Given the description of an element on the screen output the (x, y) to click on. 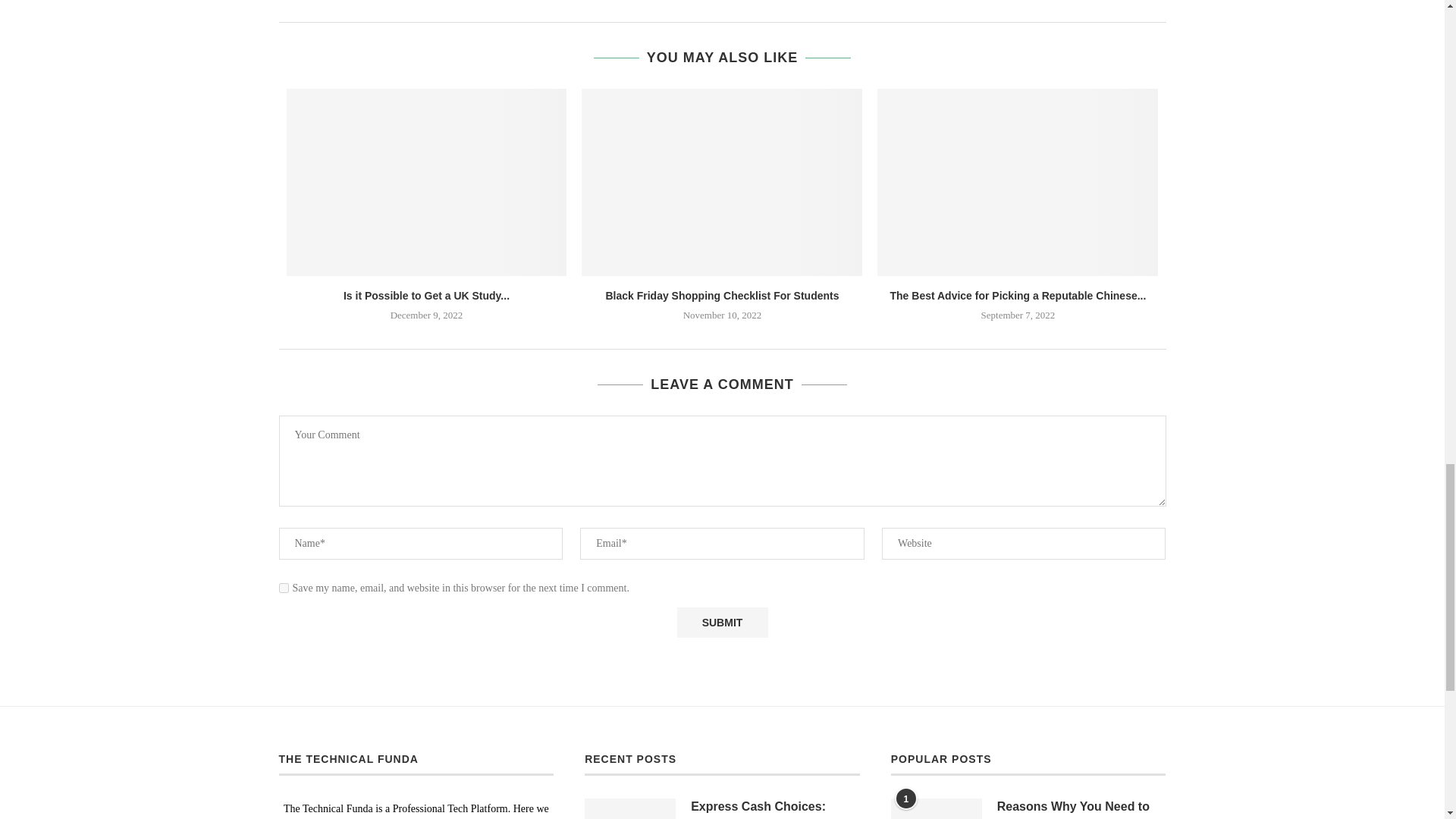
Submit (722, 622)
Is it Possible to Get a UK Study Visa Without IELTS? (426, 182)
Black Friday Shopping Checklist For Students (720, 182)
yes (283, 587)
